Given the description of an element on the screen output the (x, y) to click on. 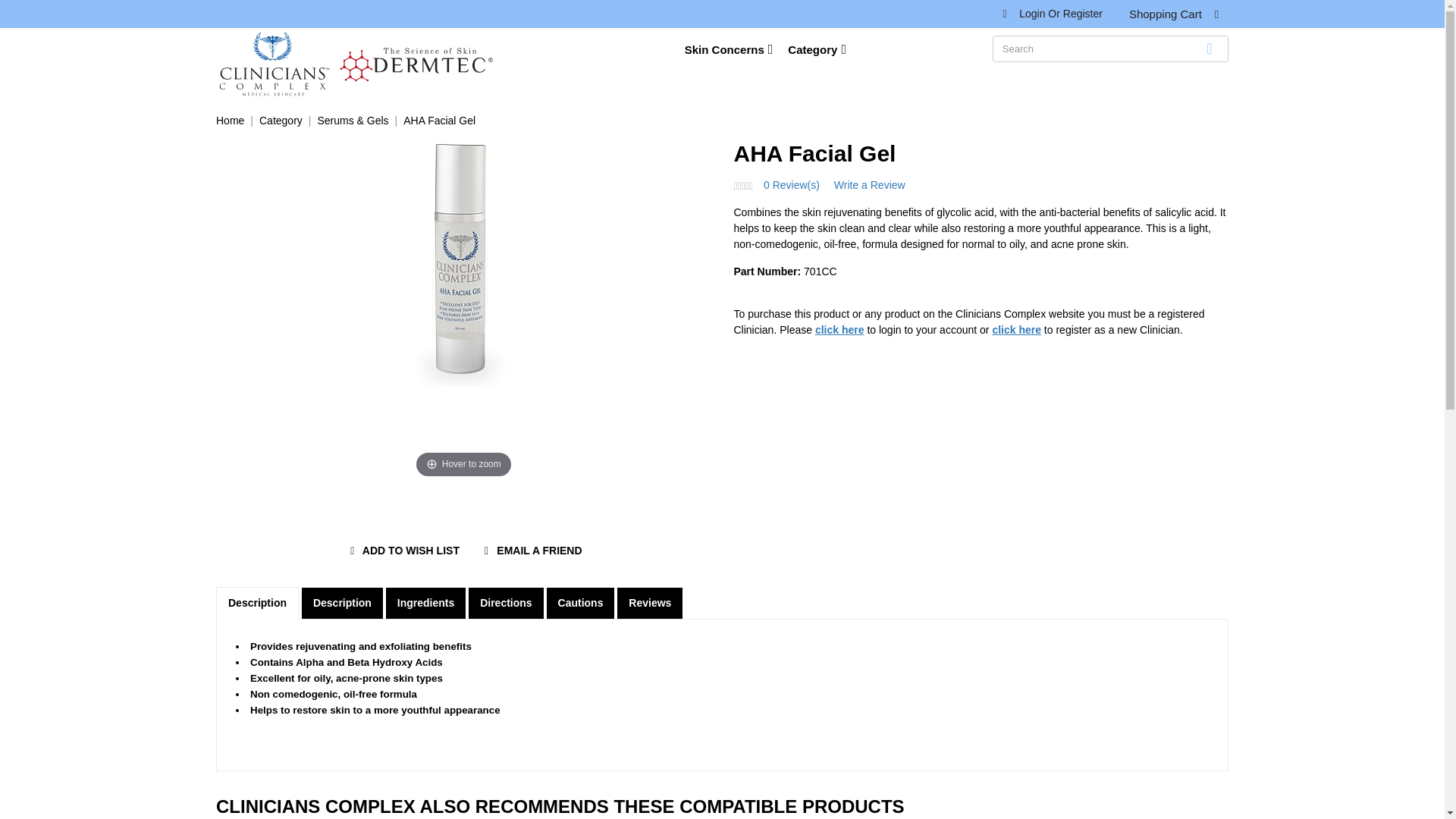
Shopping Cart (1178, 17)
Skin Concerns (736, 46)
AHA Facial Gel (439, 120)
Skinsx.com, Inc. (274, 63)
Category (816, 46)
Home (229, 120)
EMAIL A FRIEND (531, 550)
Login Or Register (1059, 13)
ADD TO WISH LIST (401, 550)
Category (280, 120)
home (274, 63)
